Given the description of an element on the screen output the (x, y) to click on. 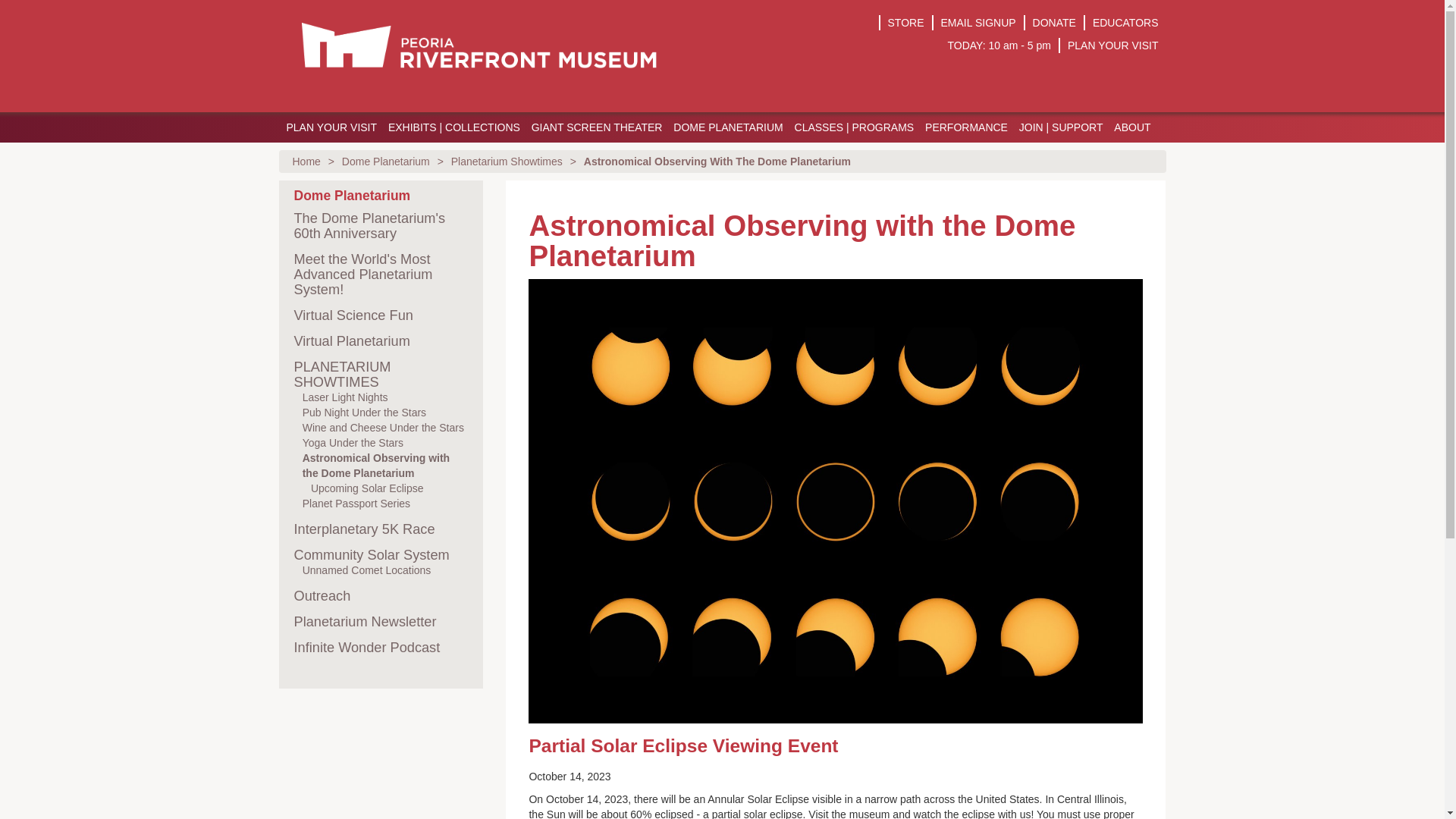
STORE (906, 22)
DONATE (1053, 22)
TODAY: 10 am - 5 pm (999, 45)
PLAN YOUR VISIT (331, 127)
PLAN YOUR VISIT (1112, 45)
EMAIL SIGNUP (978, 22)
EDUCATORS (1125, 22)
